Given the description of an element on the screen output the (x, y) to click on. 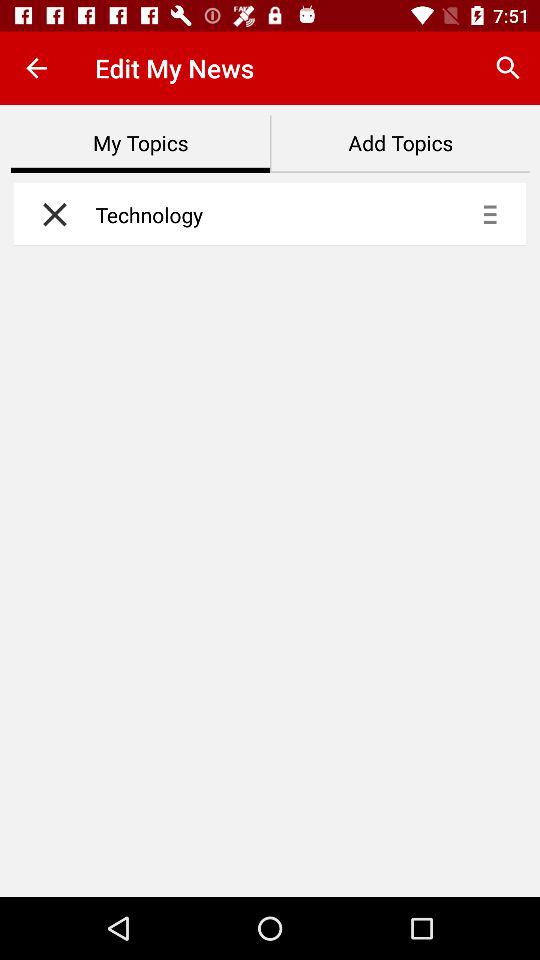
open add topics item (400, 143)
